Given the description of an element on the screen output the (x, y) to click on. 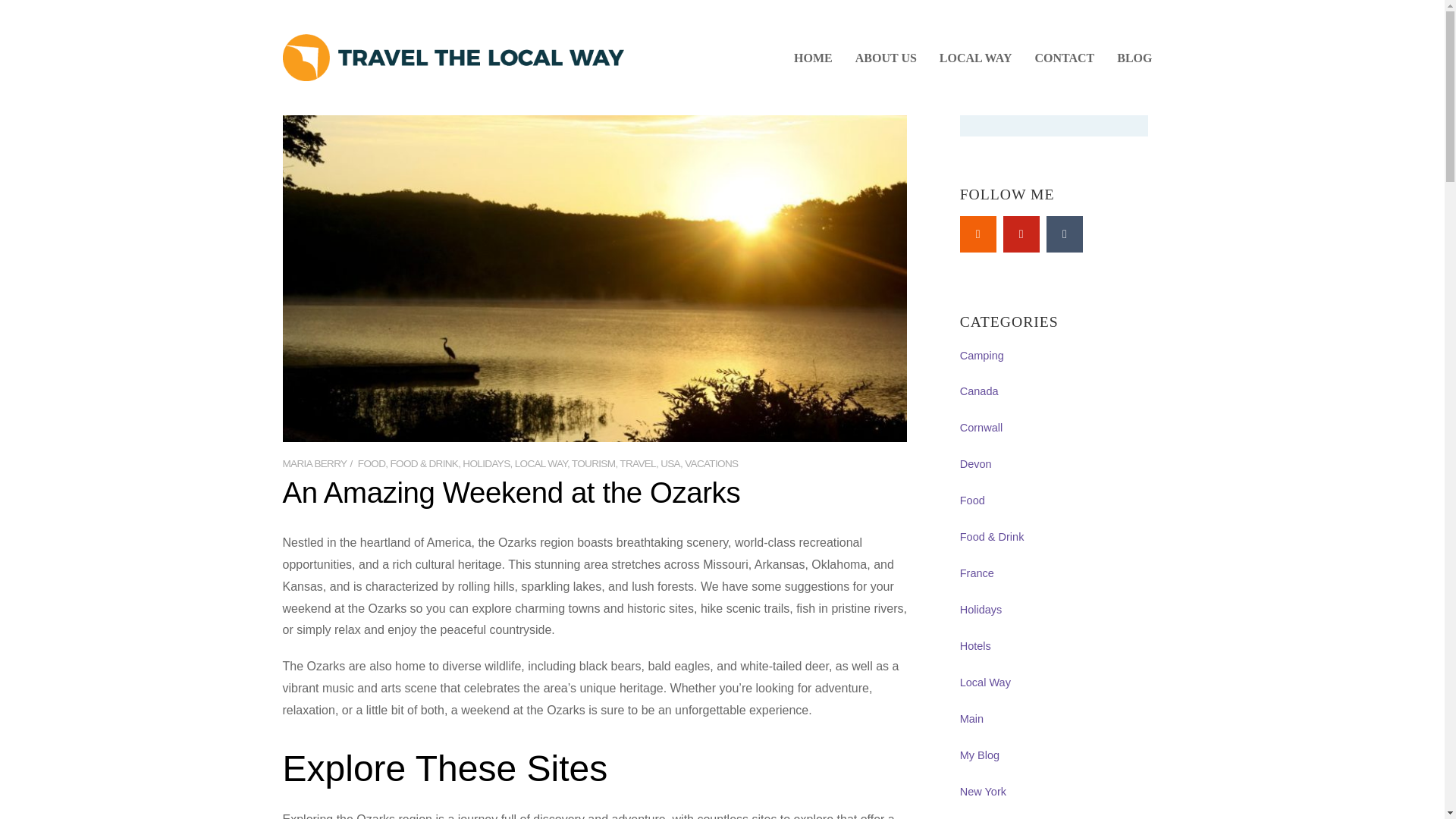
tumblr (1064, 234)
Travel the Local Way (452, 57)
rss (977, 234)
HOLIDAYS (486, 463)
ABOUT US (885, 64)
Canada (978, 390)
LOCAL WAY (975, 64)
Pinterest (1021, 234)
Search (1053, 124)
tumblr (1064, 234)
FOOD (371, 463)
Devon (975, 463)
MARIA BERRY (314, 463)
BLOG (1133, 64)
LOCAL WAY (541, 463)
